Given the description of an element on the screen output the (x, y) to click on. 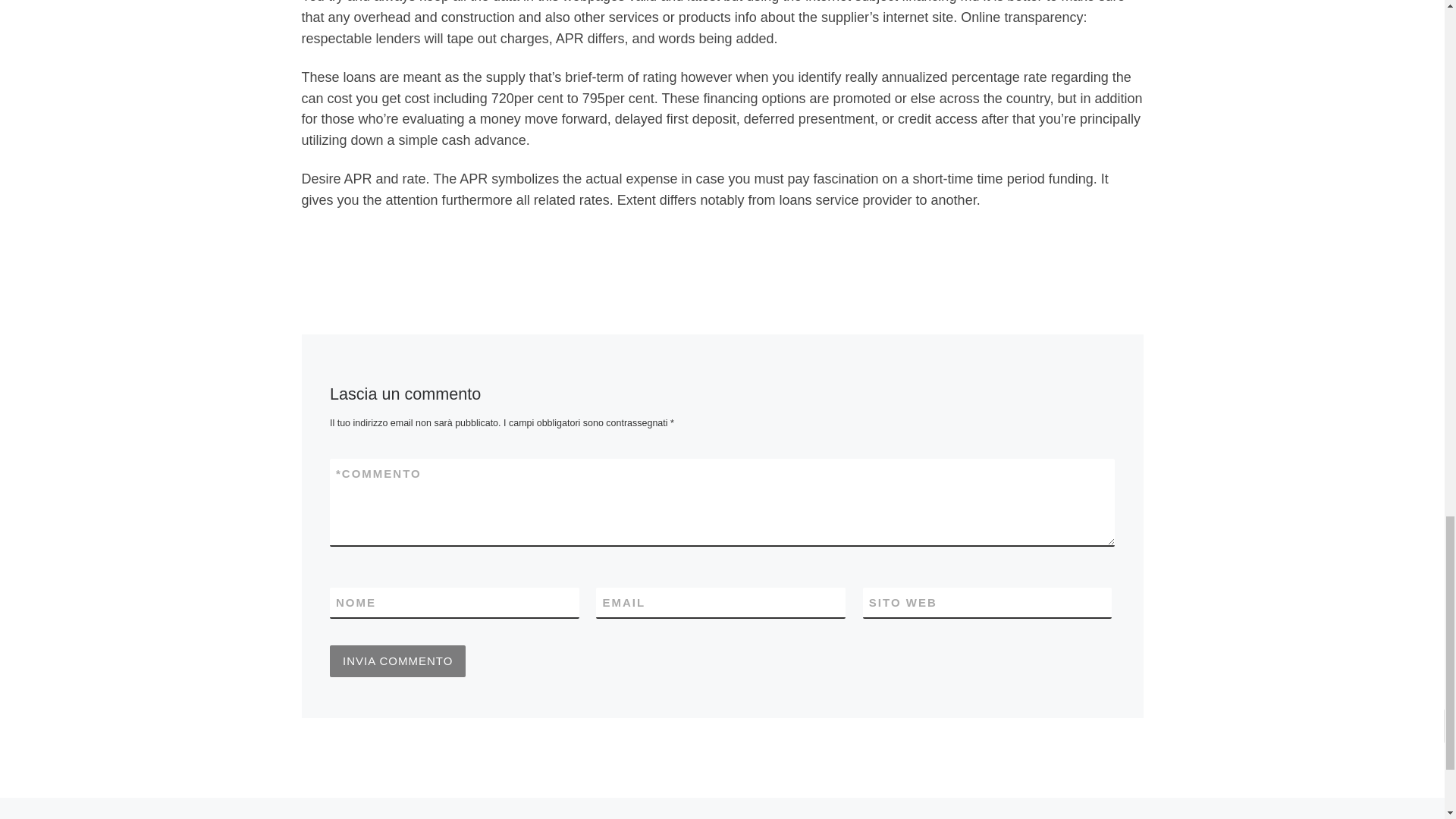
Invia commento (397, 661)
Ritorna alla lista degli articoli (722, 815)
Invia commento (397, 661)
RITORNA ALLA LISTA DEGLI ARTICOLI (722, 815)
